Given the description of an element on the screen output the (x, y) to click on. 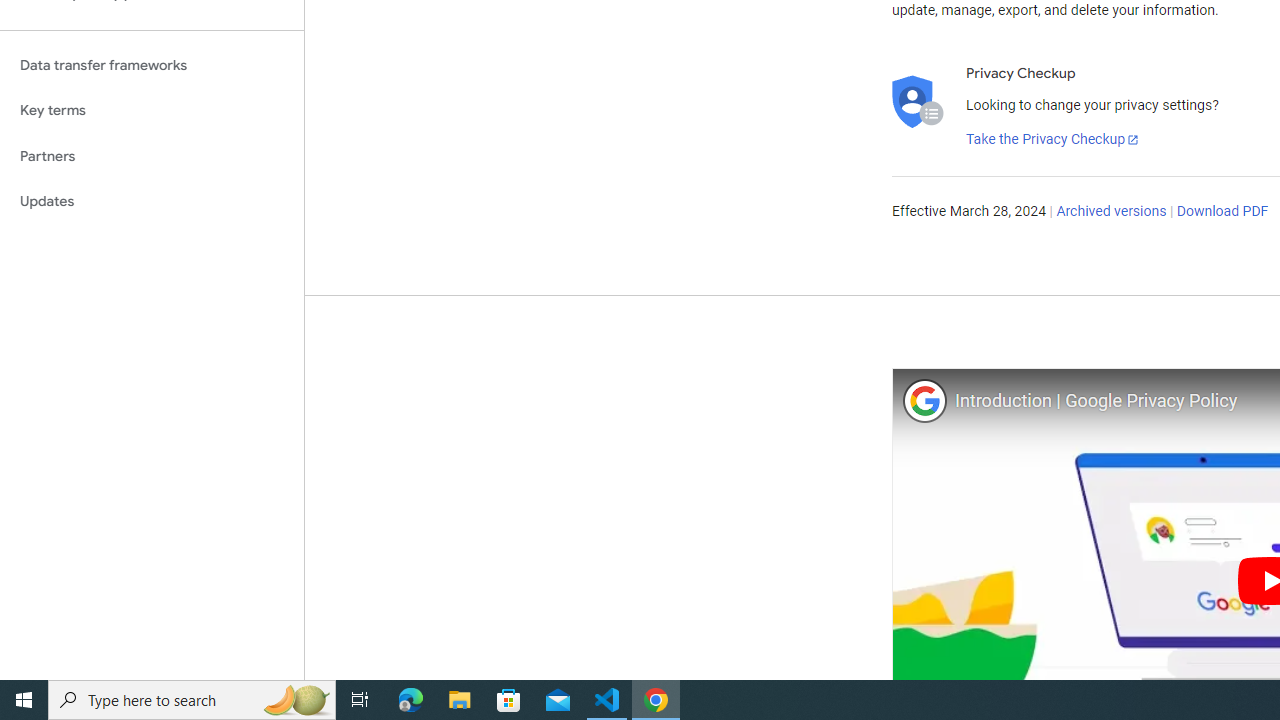
Take the Privacy Checkup (1053, 140)
Photo image of Google (924, 400)
